Given the description of an element on the screen output the (x, y) to click on. 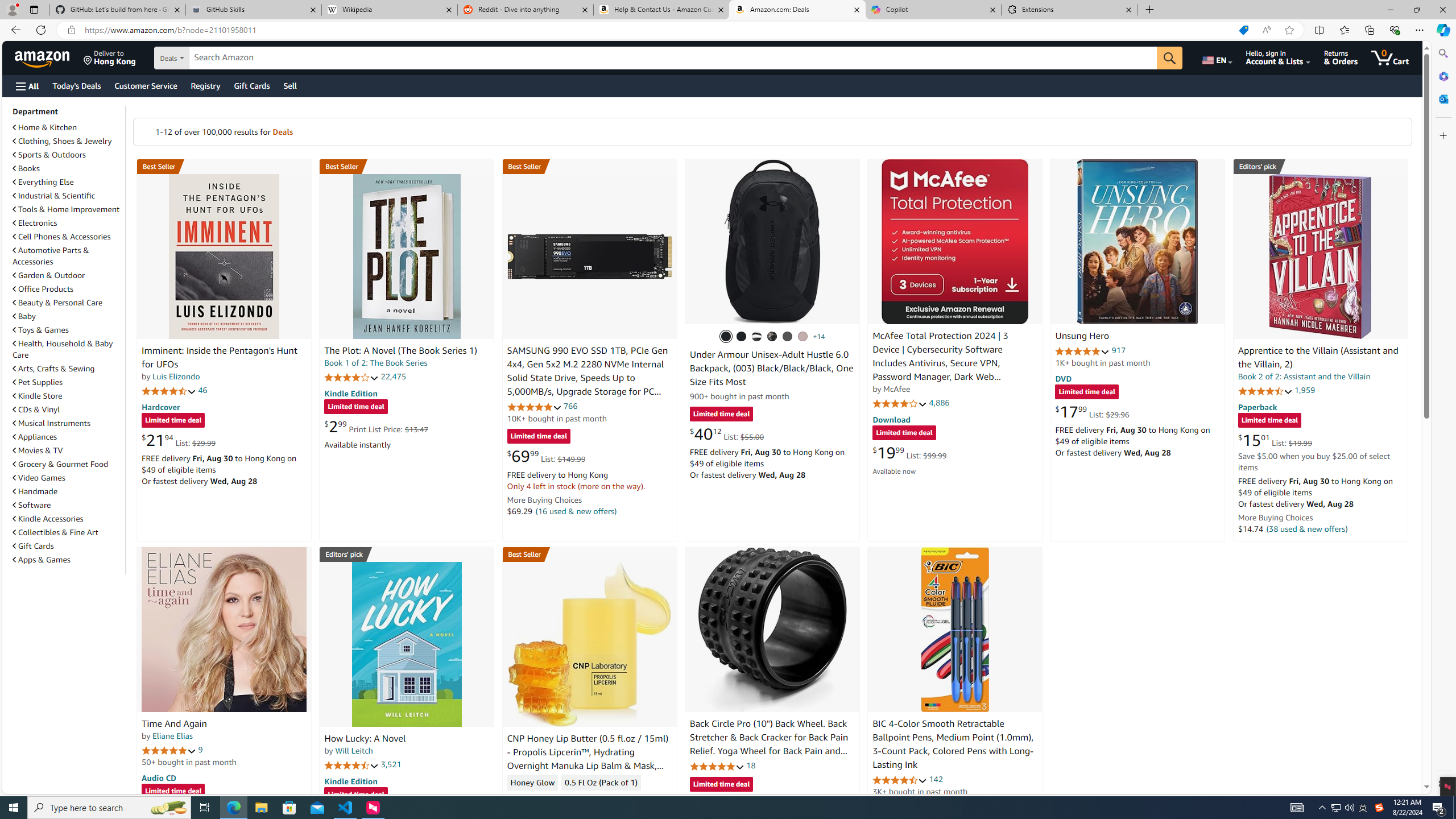
Kindle Store (37, 395)
Editors' pick Best Mystery, Thriller & Suspense (406, 553)
Apps & Games (41, 559)
Home & Kitchen (45, 127)
Best Seller in Internal Solid State Drives (589, 165)
$17.99 List: $29.96 (1092, 411)
4,886 (938, 402)
New Tab (1149, 9)
Limited time deal (721, 784)
Musical Instruments (67, 423)
917 (1117, 350)
Beauty & Personal Care (67, 301)
